Given the description of an element on the screen output the (x, y) to click on. 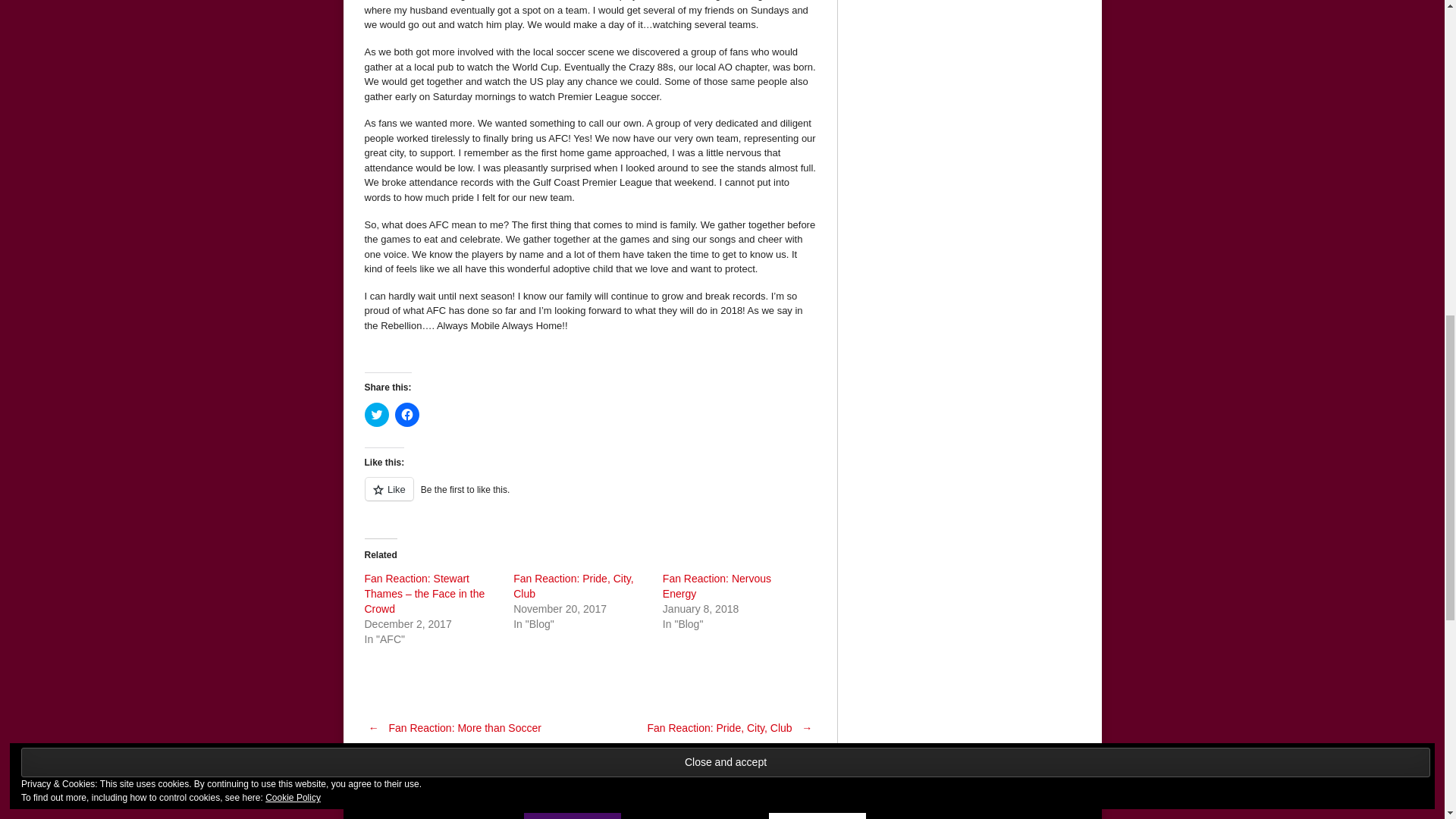
Fan Reaction: Pride, City, Club (573, 585)
Fan Reaction: Pride, City, Club (573, 585)
9Round Fitness (449, 816)
Fan Reaction: Nervous Energy (716, 585)
Click to share on Facebook (406, 414)
Like or Reblog (589, 497)
Fan Reaction: Nervous Energy (716, 585)
Click to share on Twitter (376, 414)
Royal Pharmacy (572, 816)
